Given the description of an element on the screen output the (x, y) to click on. 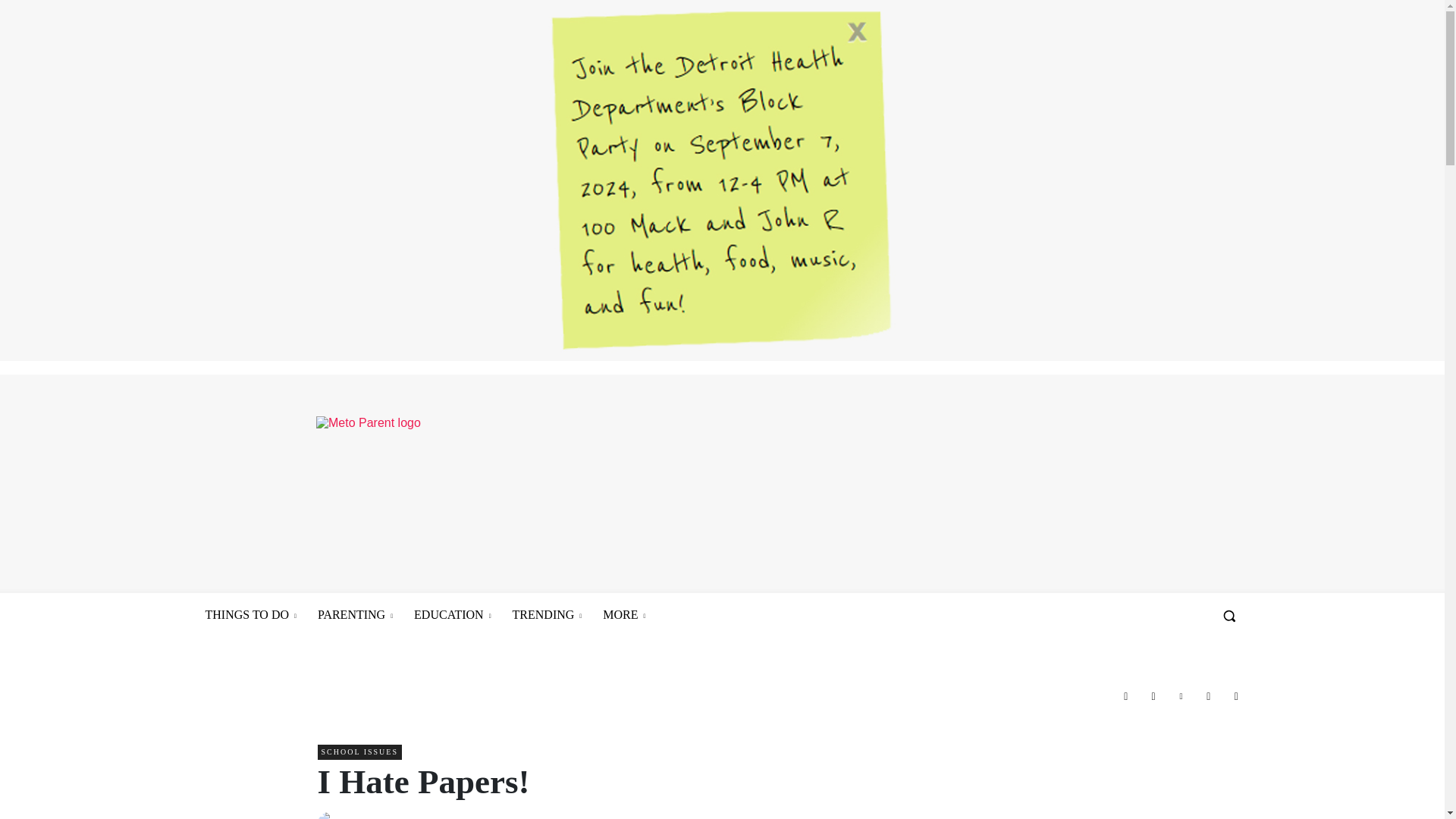
Instagram (1153, 696)
Pinterest (1180, 696)
Facebook (1126, 696)
Youtube (1236, 696)
Twitter (1209, 696)
